Given the description of an element on the screen output the (x, y) to click on. 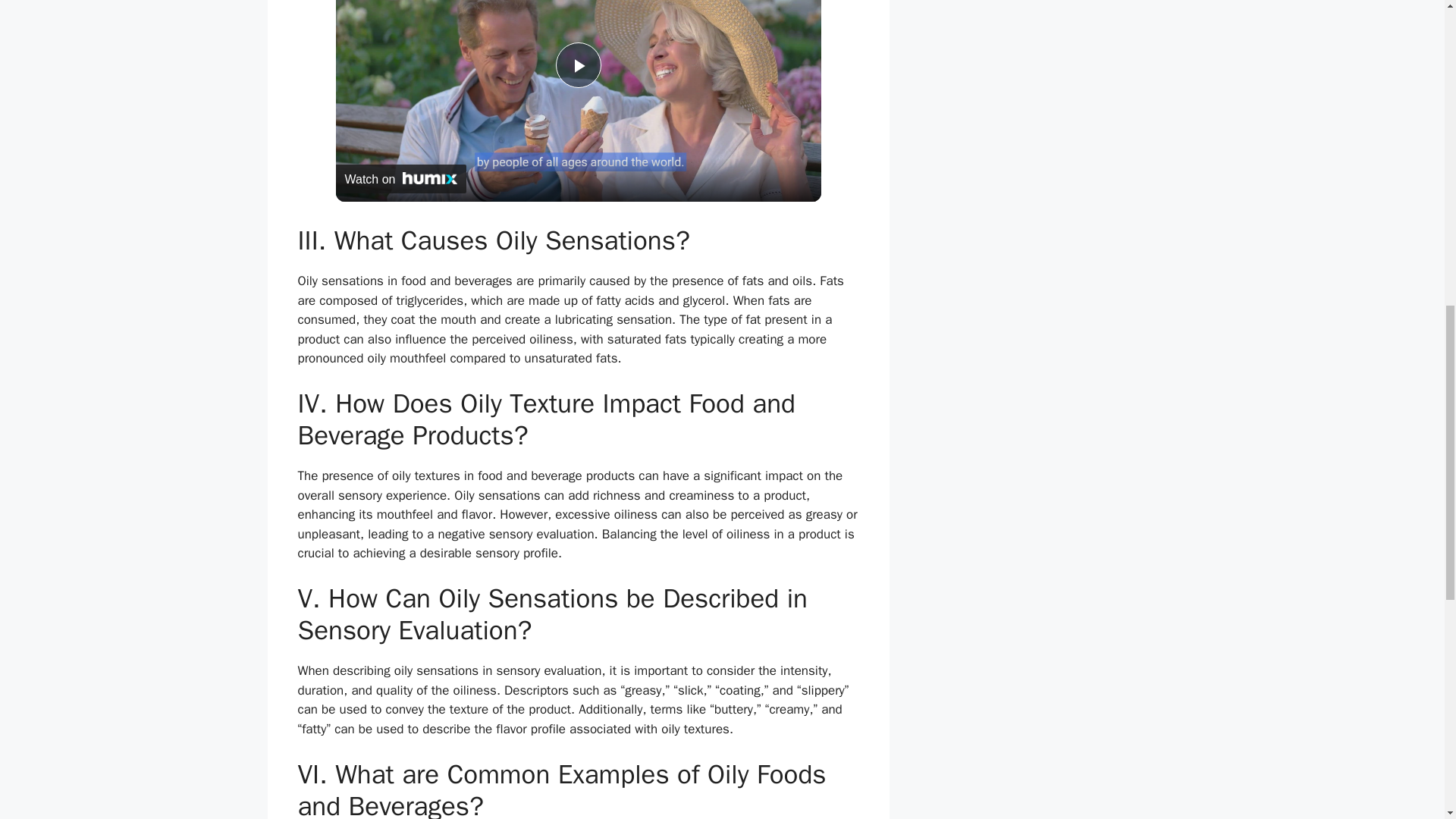
Play Video (576, 64)
Play Video (576, 64)
